Given the description of an element on the screen output the (x, y) to click on. 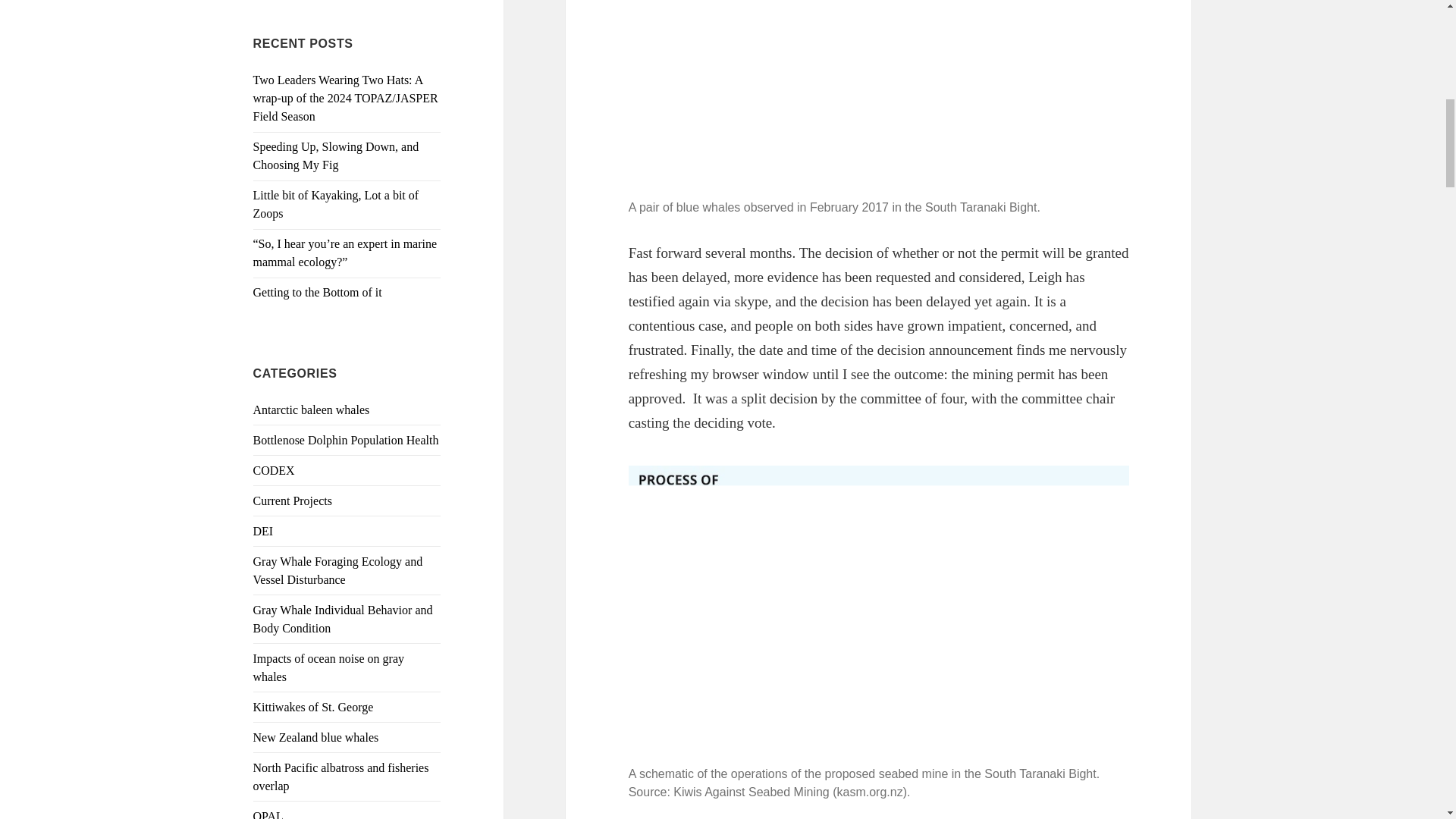
DEI (263, 530)
Gray Whale Individual Behavior and Body Condition (342, 618)
Getting to the Bottom of it (317, 291)
OPAL (268, 814)
Speeding Up, Slowing Down, and Choosing My Fig (336, 155)
Little bit of Kayaking, Lot a bit of Zoops (336, 204)
New Zealand blue whales (315, 737)
Bottlenose Dolphin Population Health (346, 440)
CODEX (274, 470)
Impacts of ocean noise on gray whales (328, 667)
